Given the description of an element on the screen output the (x, y) to click on. 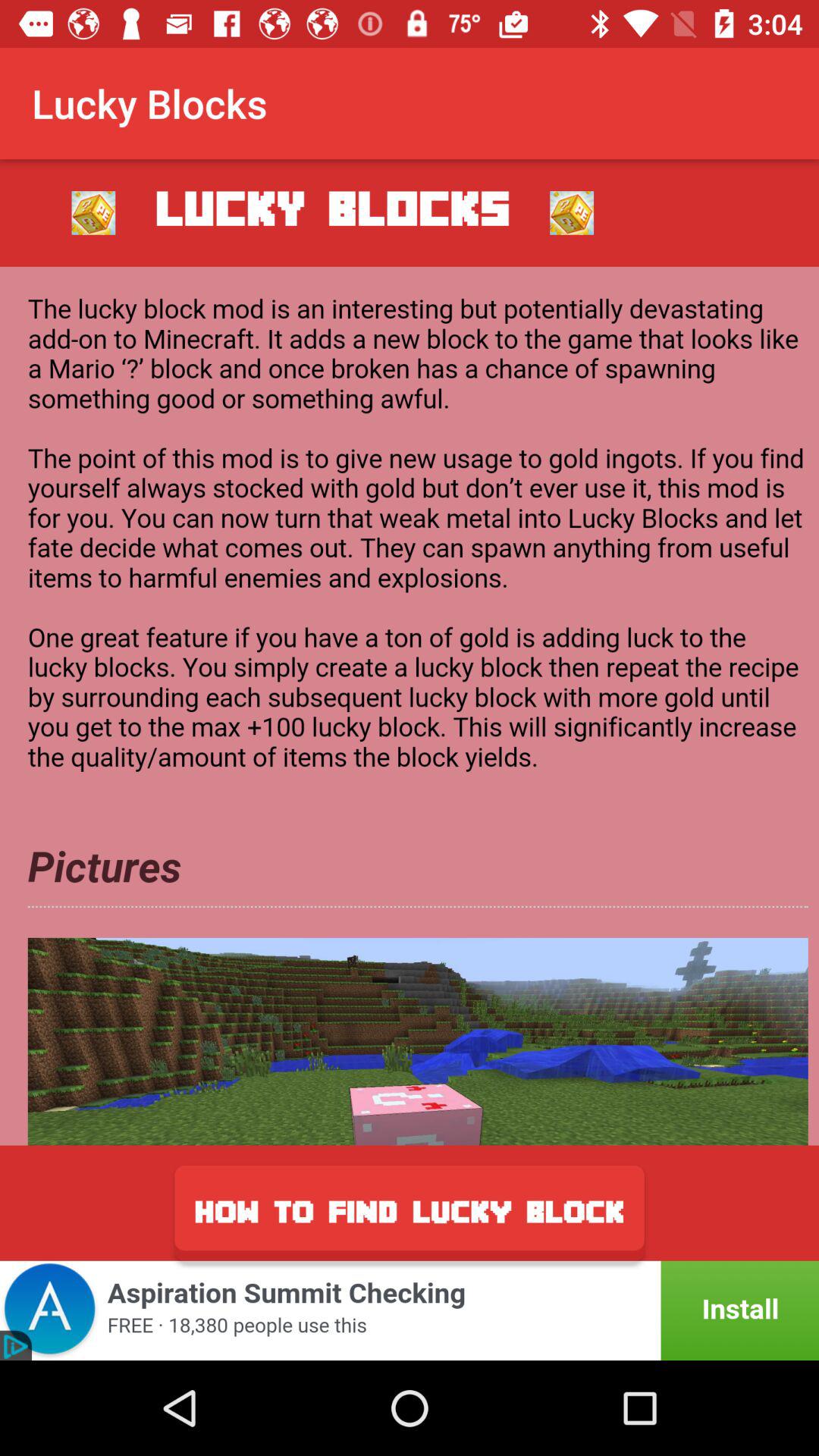
advertisement (409, 705)
